Given the description of an element on the screen output the (x, y) to click on. 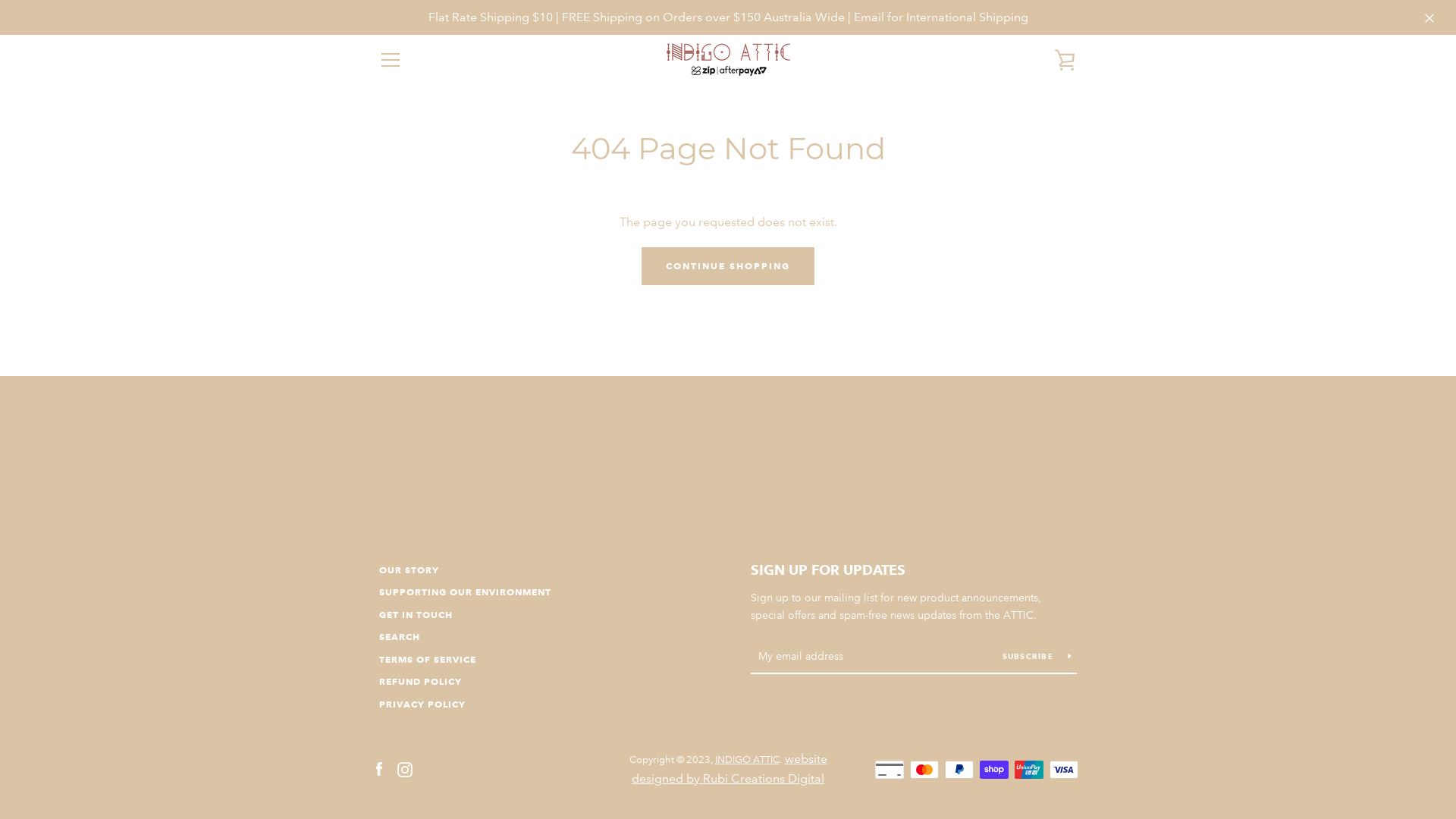
INDIGO ATTIC Element type: text (746, 759)
GET IN TOUCH Element type: text (415, 613)
MENU Element type: text (390, 59)
OUR STORY Element type: text (409, 569)
TERMS OF SERVICE Element type: text (427, 659)
Skip to content Element type: text (0, 0)
SEARCH Element type: text (399, 636)
Instagram Element type: text (404, 768)
REFUND POLICY Element type: text (420, 681)
VIEW CART Element type: text (1065, 59)
website designed by Rubi Creations Digital Element type: text (729, 768)
PRIVACY POLICY Element type: text (422, 703)
Facebook Element type: text (378, 768)
CONTINUE SHOPPING Element type: text (727, 266)
SUBSCRIBE Element type: text (1036, 655)
SUPPORTING OUR ENVIRONMENT Element type: text (465, 591)
